Given the description of an element on the screen output the (x, y) to click on. 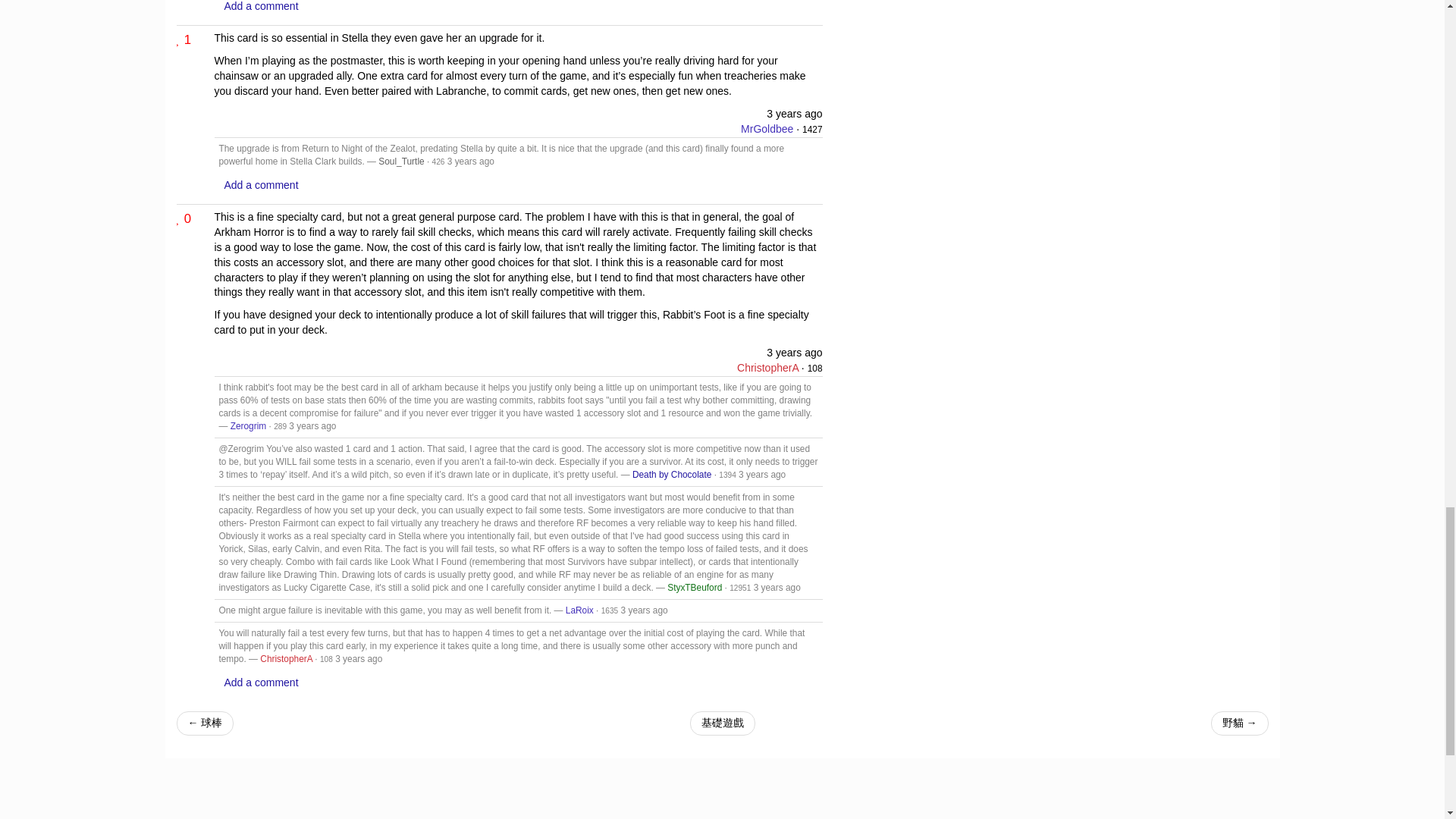
User Reputation (438, 162)
User Reputation (812, 129)
Sunday, June 13, 2021 6:48 AM (794, 113)
